Given the description of an element on the screen output the (x, y) to click on. 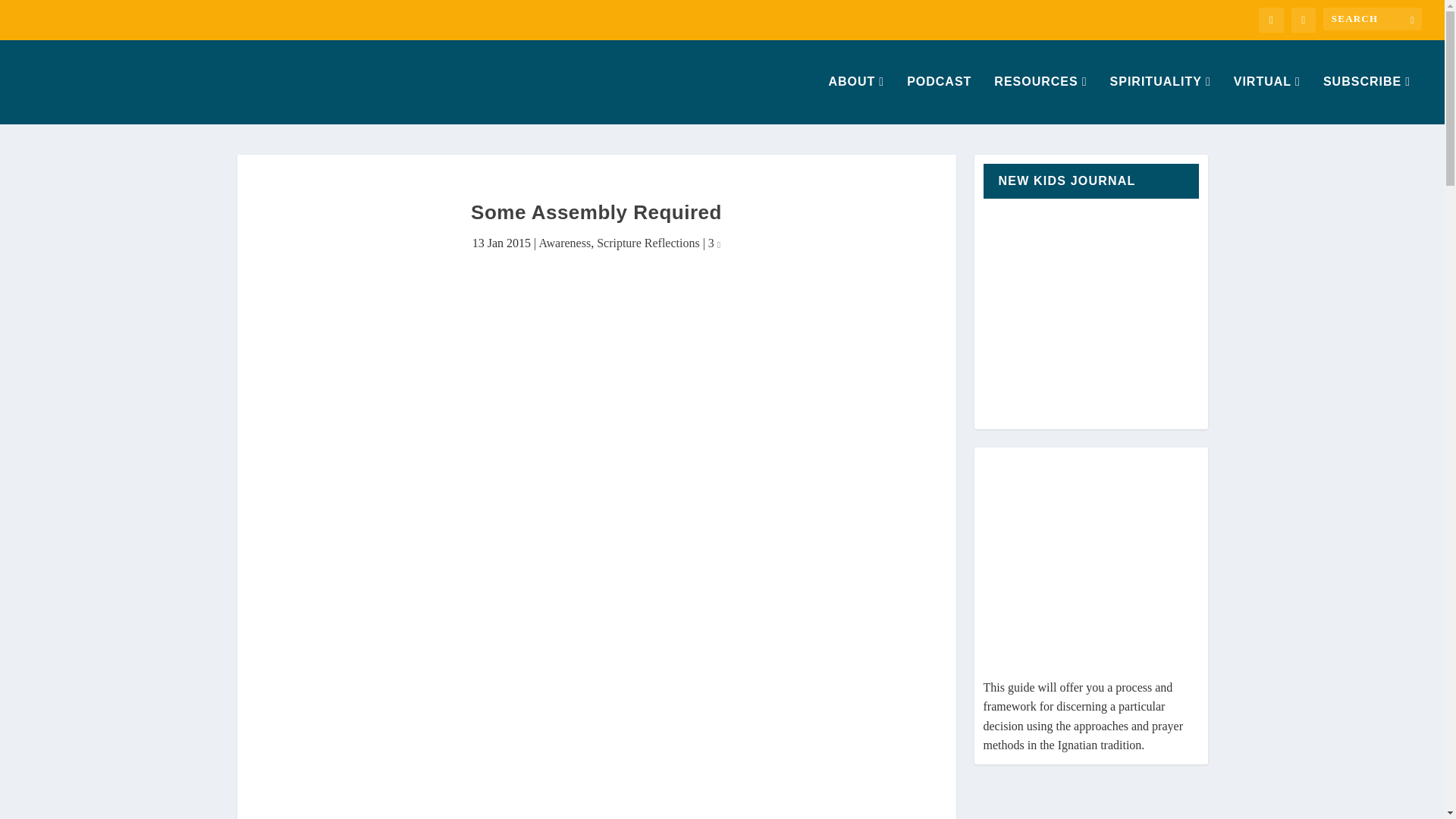
Search for: (1372, 18)
ABOUT (855, 100)
PODCAST (939, 100)
SPIRITUALITY (1160, 100)
RESOURCES (1040, 100)
